Given the description of an element on the screen output the (x, y) to click on. 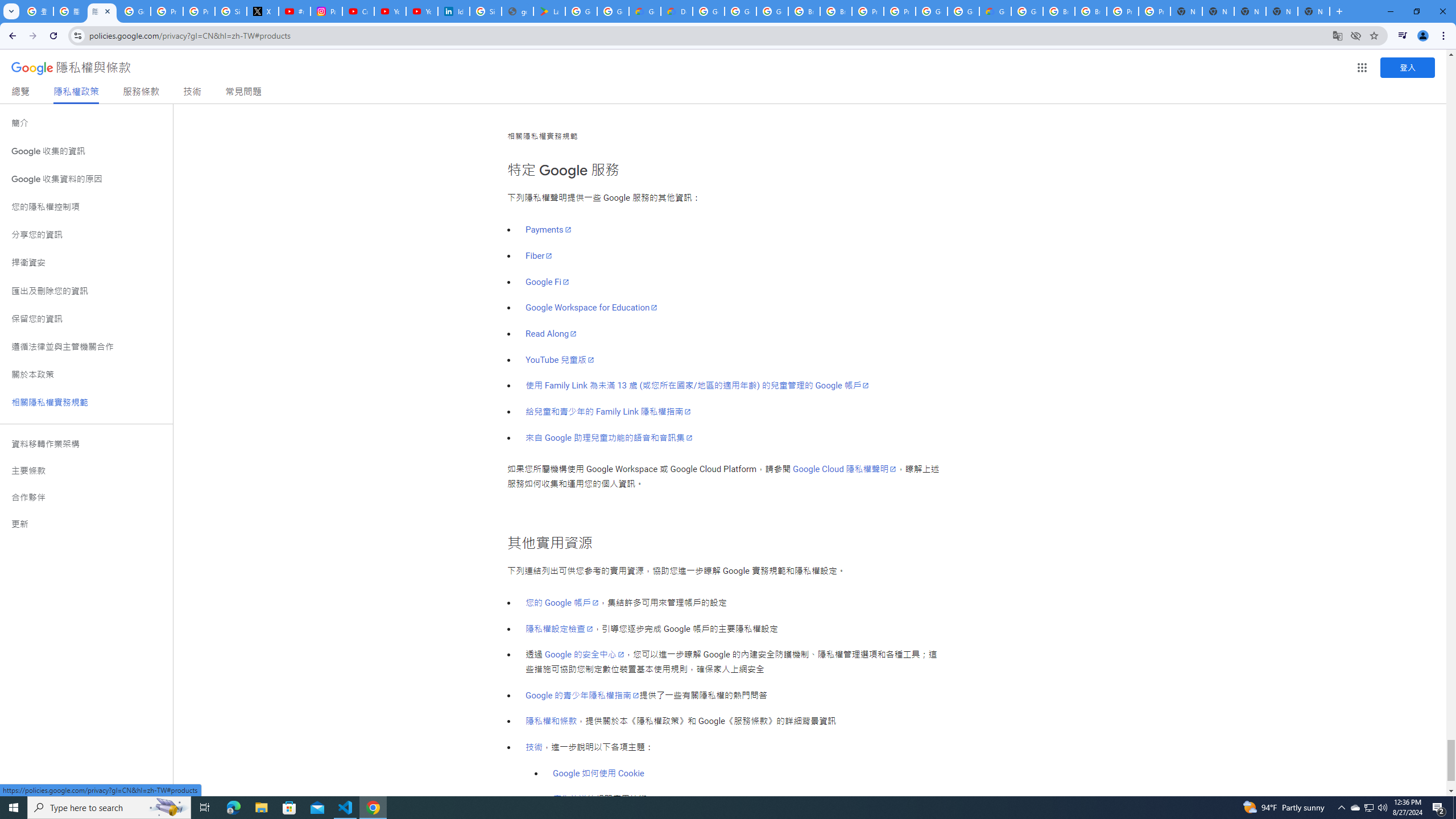
X (262, 11)
Read Along (550, 333)
